Given the description of an element on the screen output the (x, y) to click on. 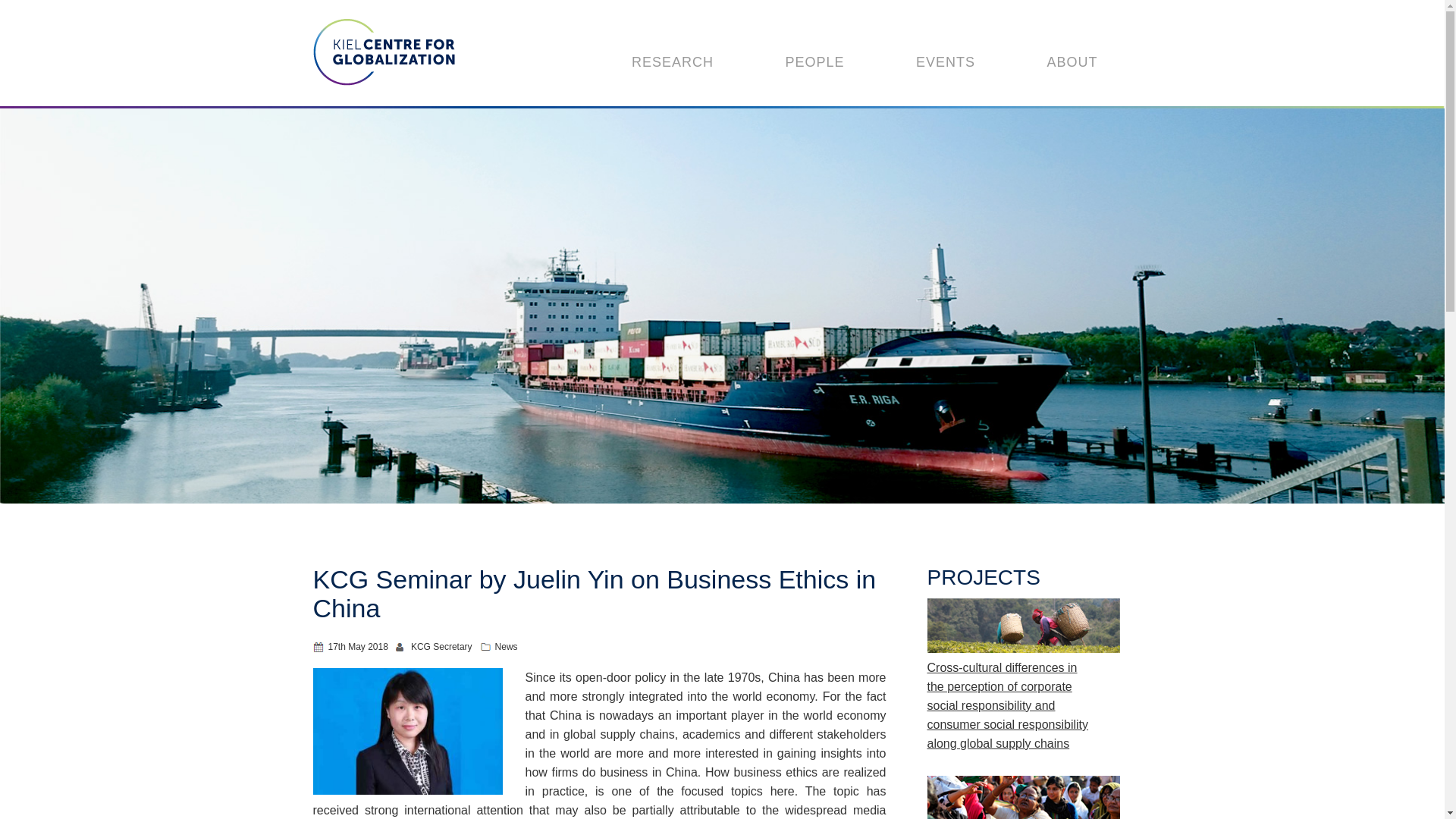
RESEARCH (672, 61)
PEOPLE (814, 61)
